Given the description of an element on the screen output the (x, y) to click on. 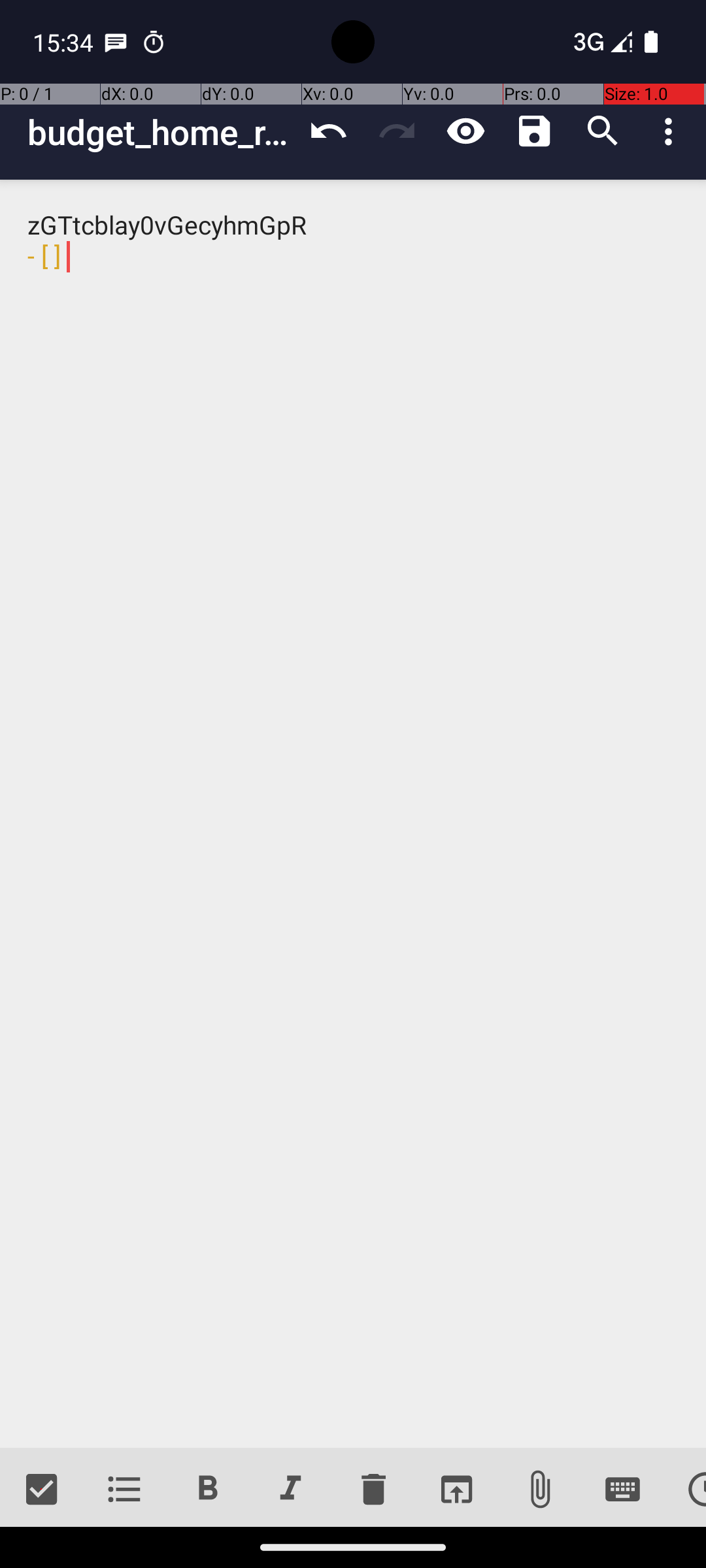
budget_home_renovation_2023_08_10 Element type: android.widget.TextView (160, 131)
zGTtcblay0vGecyhmGpR
- [ ]  Element type: android.widget.EditText (353, 813)
